Given the description of an element on the screen output the (x, y) to click on. 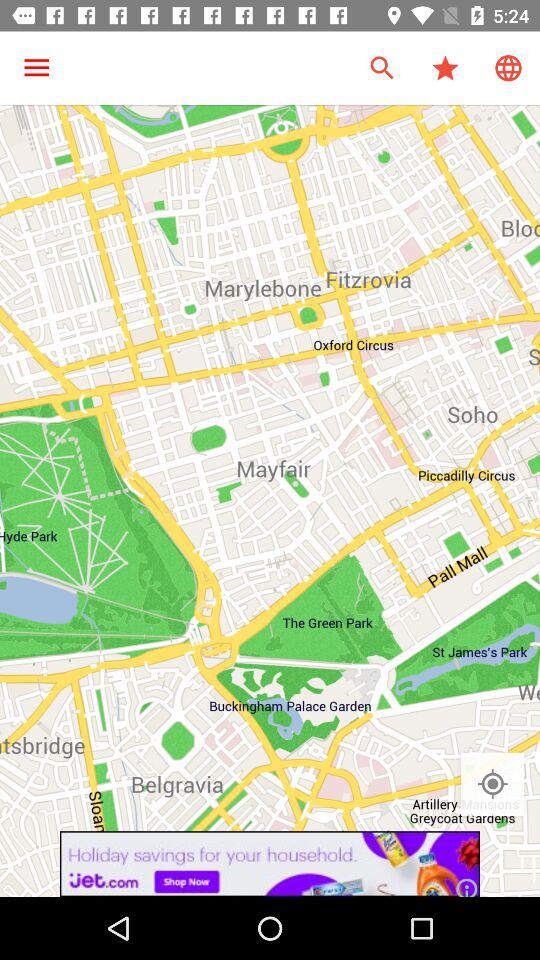
show gps location (492, 783)
